Given the description of an element on the screen output the (x, y) to click on. 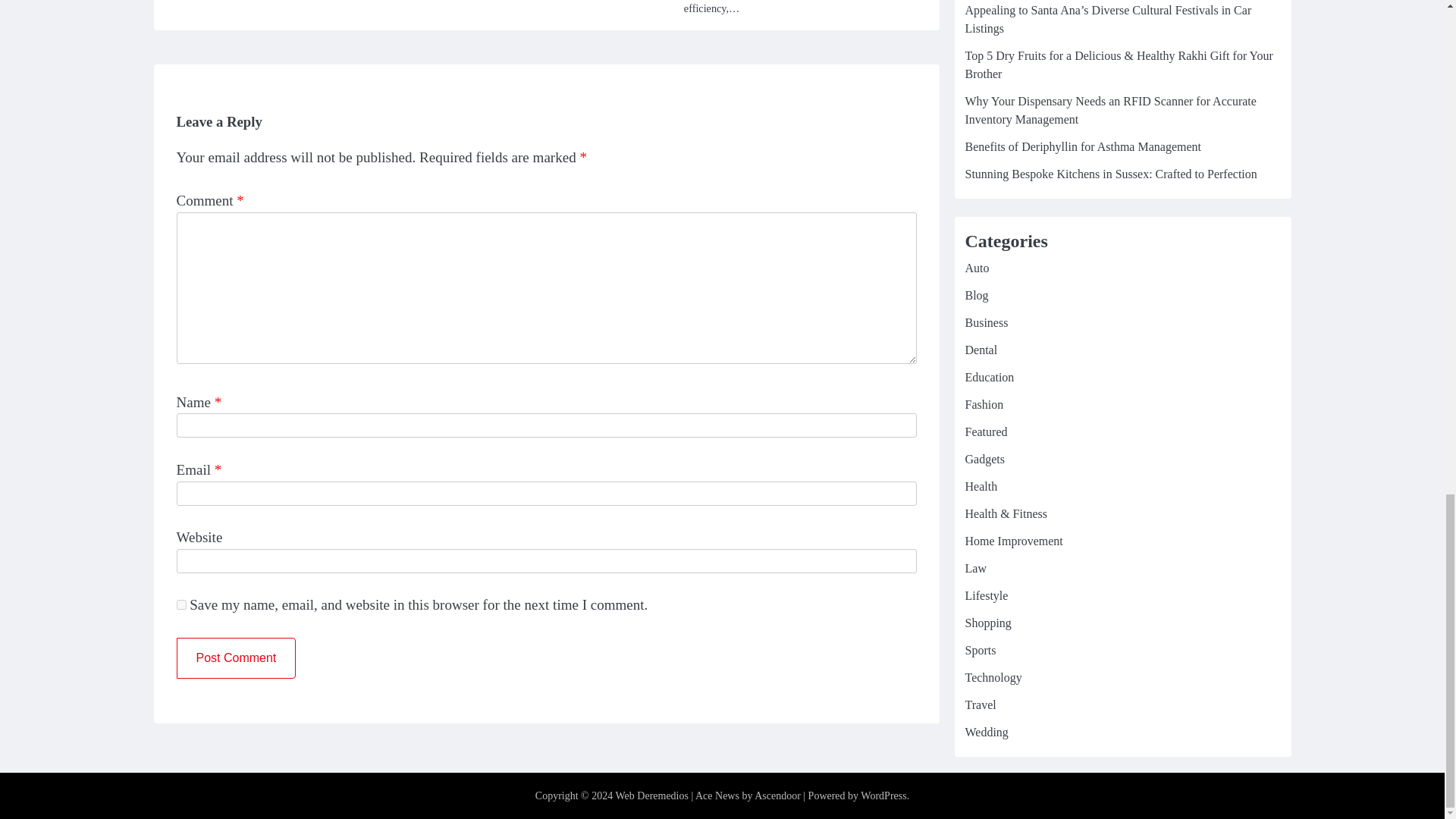
yes (181, 604)
Post Comment (235, 658)
Post Comment (235, 658)
